Given the description of an element on the screen output the (x, y) to click on. 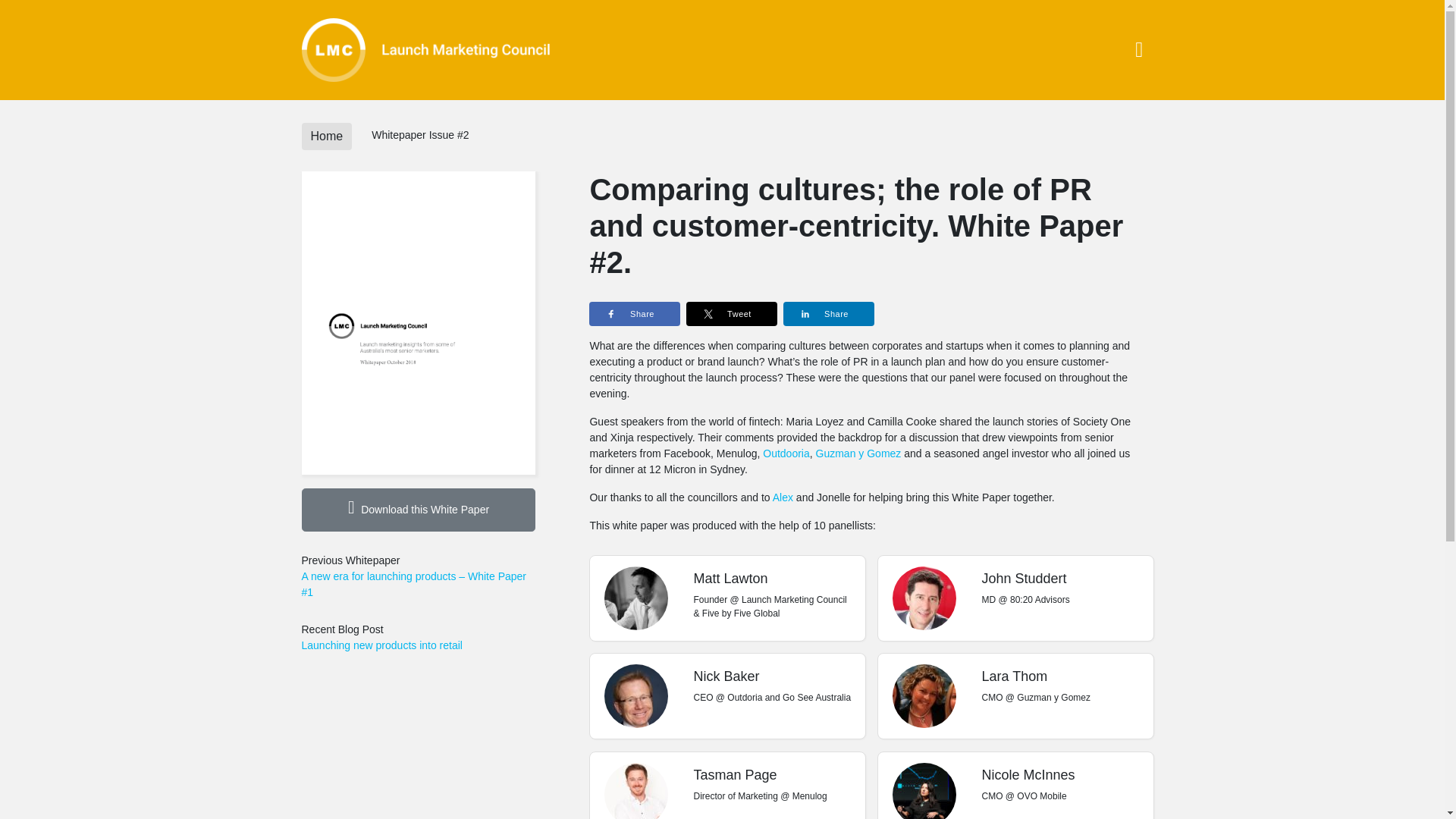
Launching new products into retail (418, 645)
Download this White Paper (418, 509)
Guzman y Gomez (858, 453)
Outdooria (785, 453)
Home (326, 135)
Alex (783, 497)
